Given the description of an element on the screen output the (x, y) to click on. 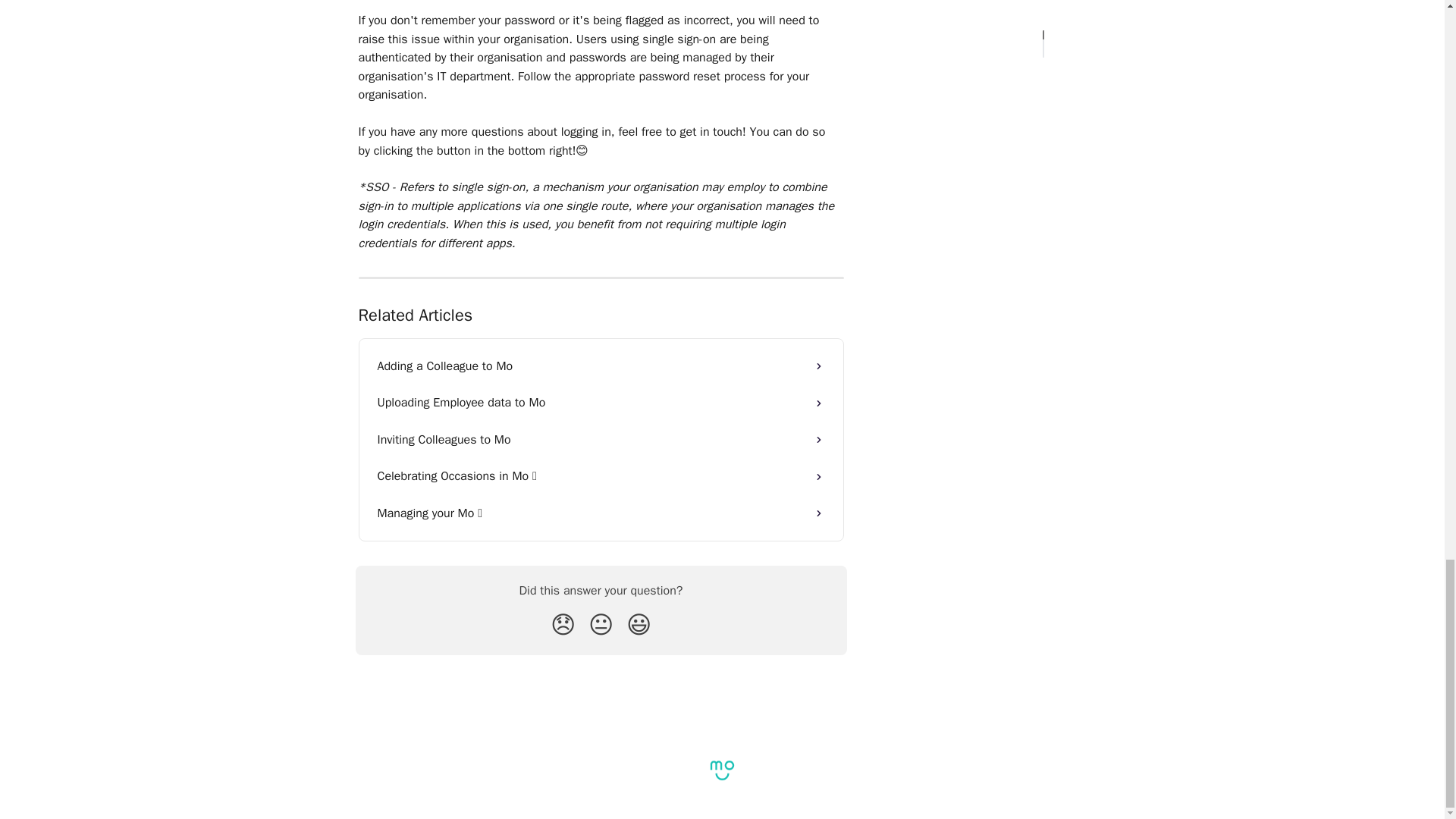
Adding a Colleague to Mo (601, 366)
Uploading Employee data to Mo (601, 402)
Inviting Colleagues to Mo (601, 439)
